Given the description of an element on the screen output the (x, y) to click on. 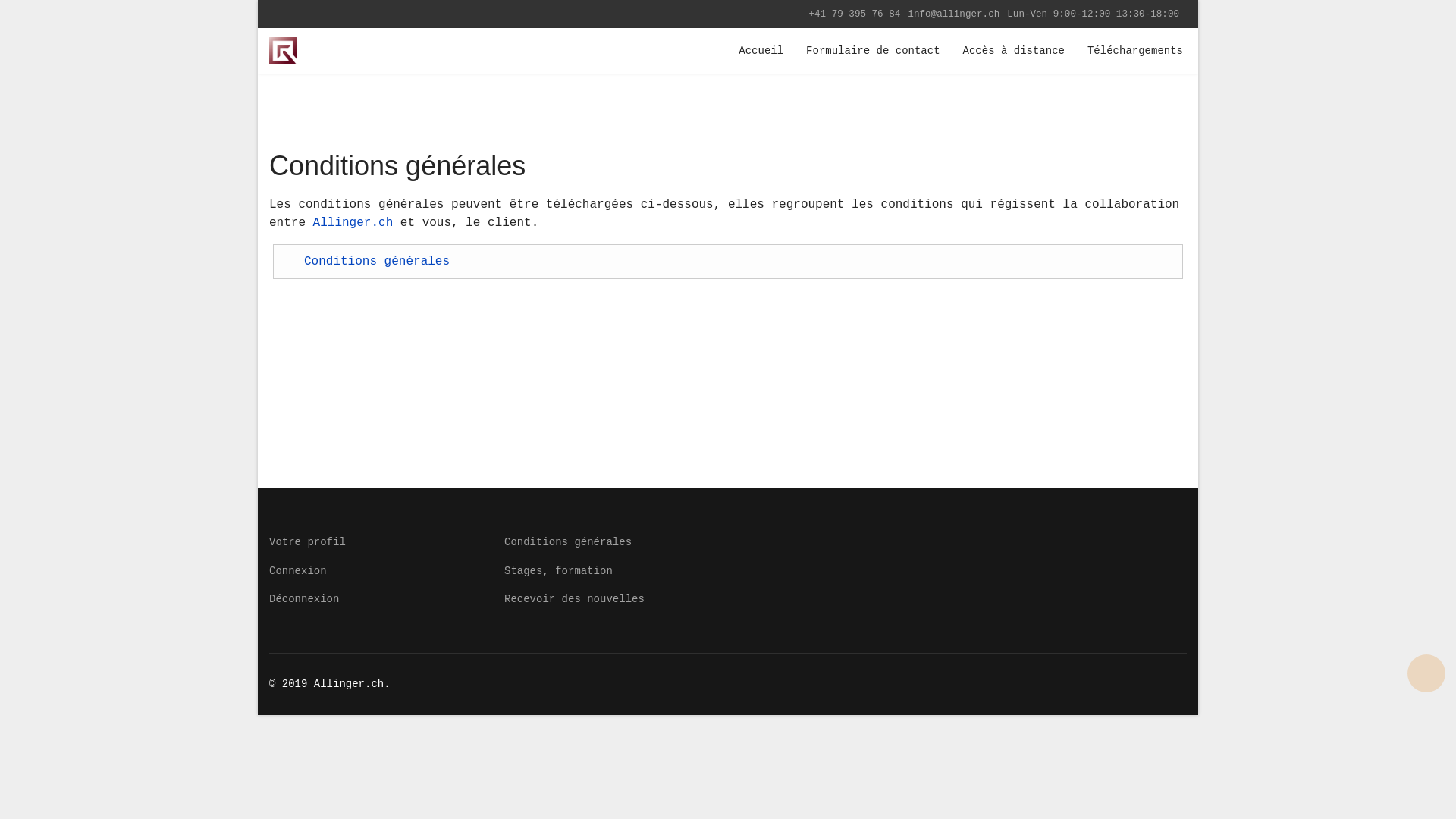
Accueil Element type: text (760, 50)
+41 79 395 76 84 Element type: text (854, 14)
Formulaire de contact Element type: text (872, 50)
Votre profil Element type: text (375, 541)
info@allinger.ch Element type: text (953, 14)
Allinger.ch Element type: text (353, 222)
Stages, formation Element type: text (845, 570)
Connexion Element type: text (375, 570)
Recevoir des nouvelles Element type: text (845, 598)
